Given the description of an element on the screen output the (x, y) to click on. 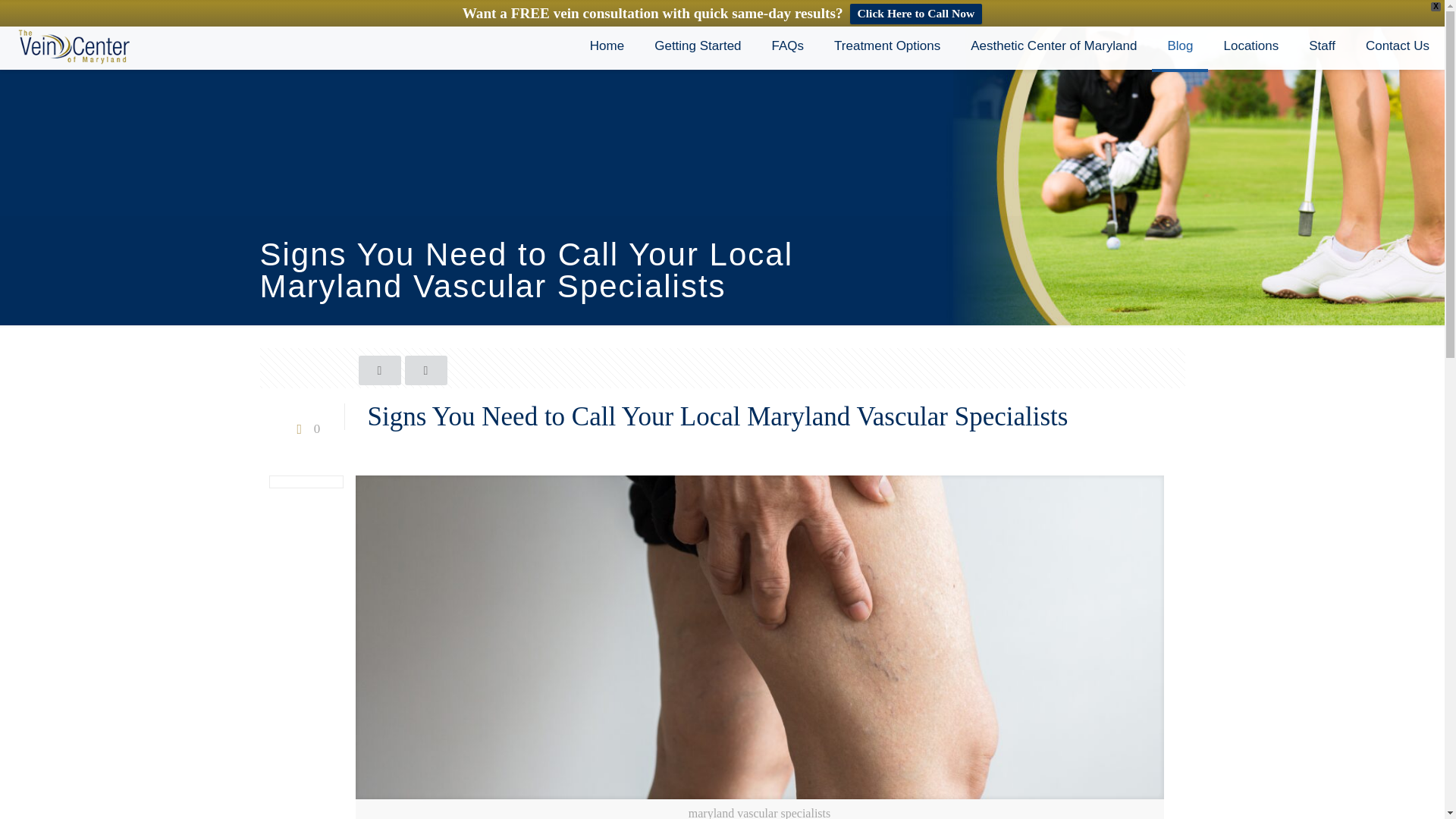
Blog (1179, 45)
Locations (1251, 45)
The Vein Center of Maryland (73, 45)
FAQs (788, 45)
Click Here to Call Now (914, 14)
Staff (1322, 45)
Getting Started (697, 45)
Treatment Options (886, 45)
Aesthetic Center of Maryland (1053, 45)
Home (607, 45)
